Given the description of an element on the screen output the (x, y) to click on. 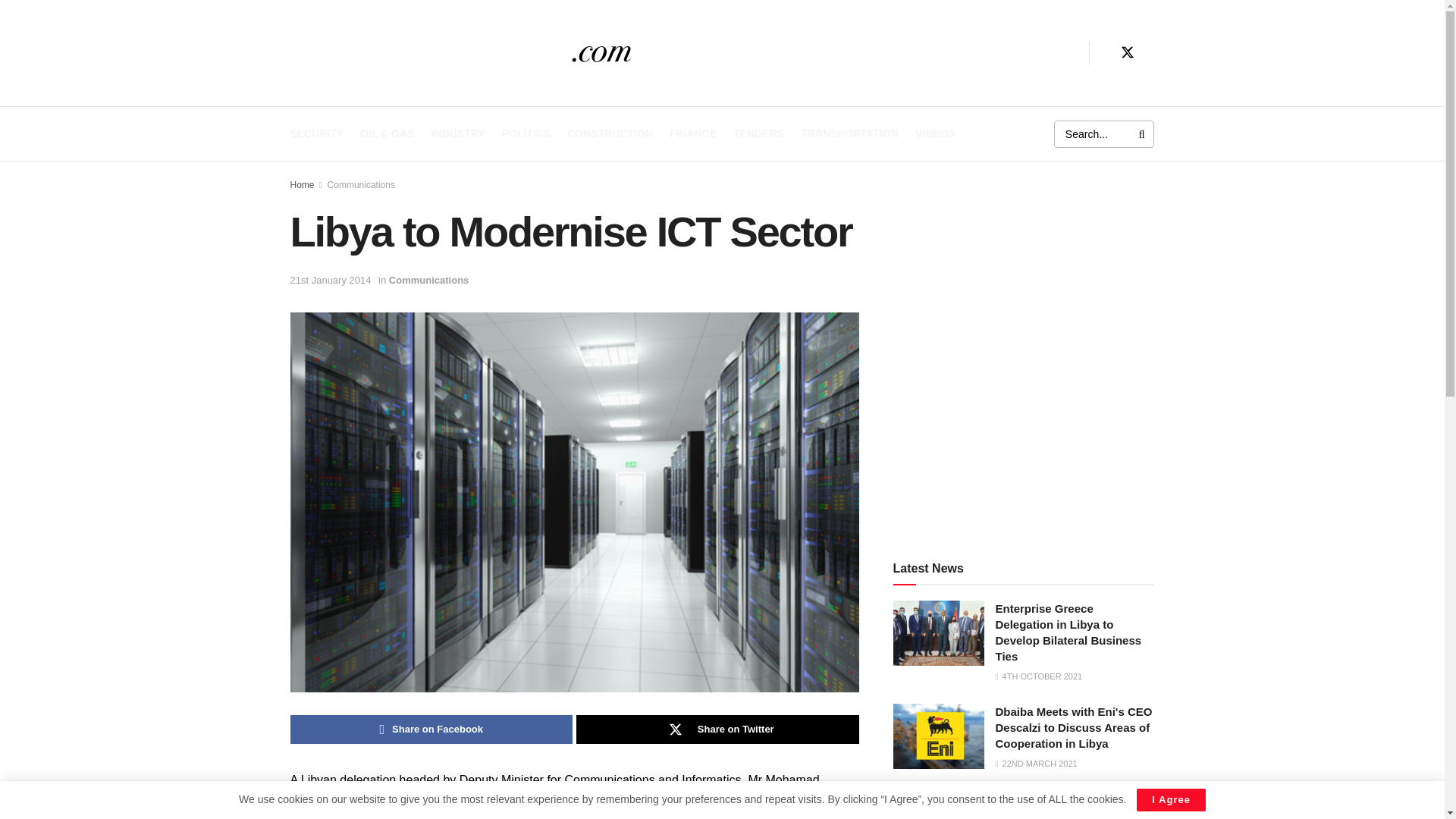
VIDEOS (935, 133)
Share on Twitter (717, 728)
Advertisement (1023, 418)
FINANCE (692, 133)
Share on Facebook (430, 728)
Communications (428, 279)
TRANSPORTATION (849, 133)
CONSTRUCTION (609, 133)
Home (301, 184)
21st January 2014 (330, 279)
TENDERS (758, 133)
INDUSTRY (457, 133)
POLITICS (526, 133)
Communications (360, 184)
